Given the description of an element on the screen output the (x, y) to click on. 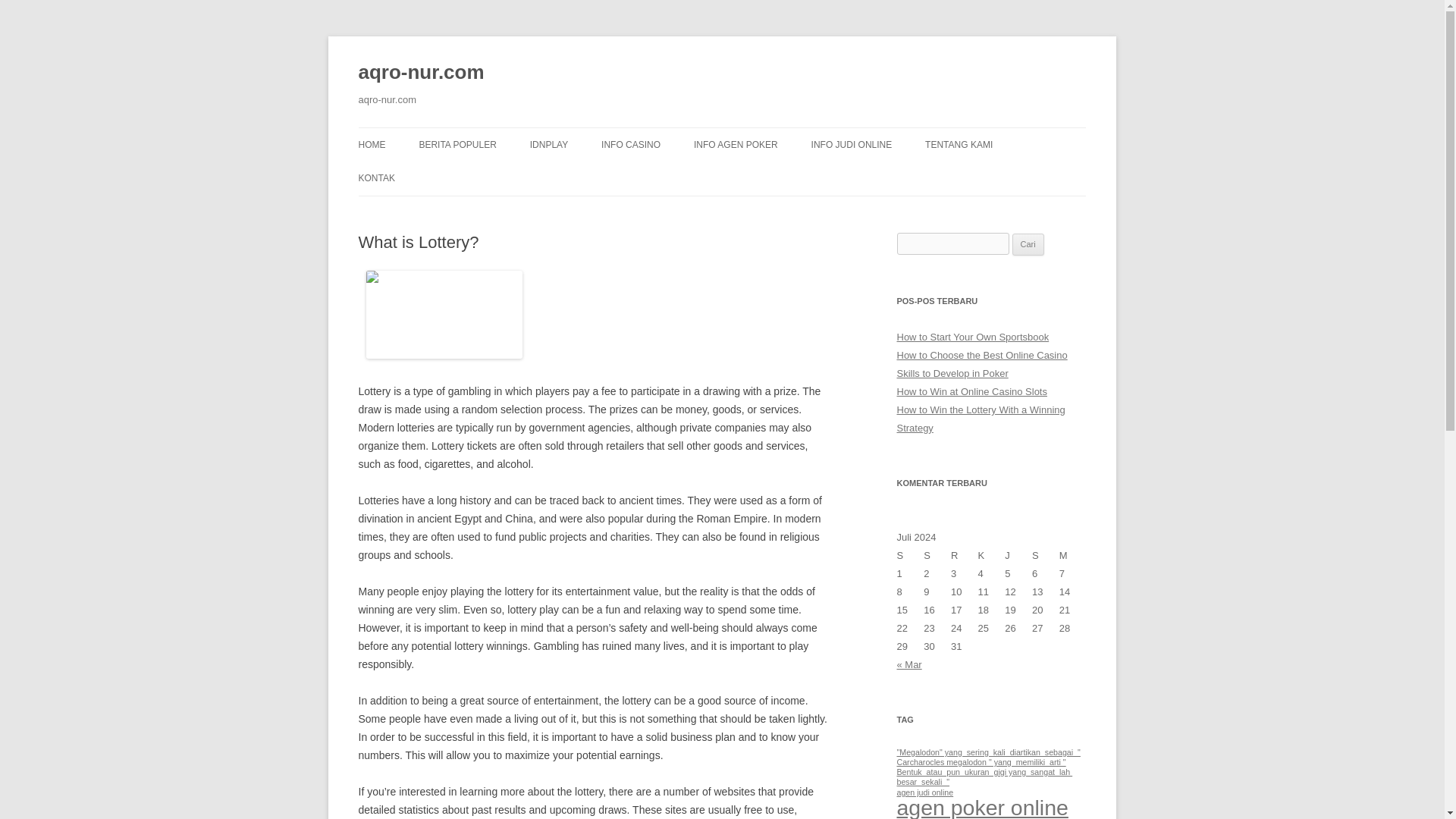
Senin (909, 556)
Rabu (964, 556)
How to Win the Lottery With a Winning Strategy (980, 419)
Minggu (1072, 556)
aqro-nur.com (420, 72)
TENTANG KAMI (958, 144)
BERITA POPULER (457, 144)
Sabtu (1045, 556)
agen sbobet (955, 817)
KONTAK (376, 177)
agen poker online (981, 807)
IDNPLAY (548, 144)
Skills to Develop in Poker (951, 373)
